Given the description of an element on the screen output the (x, y) to click on. 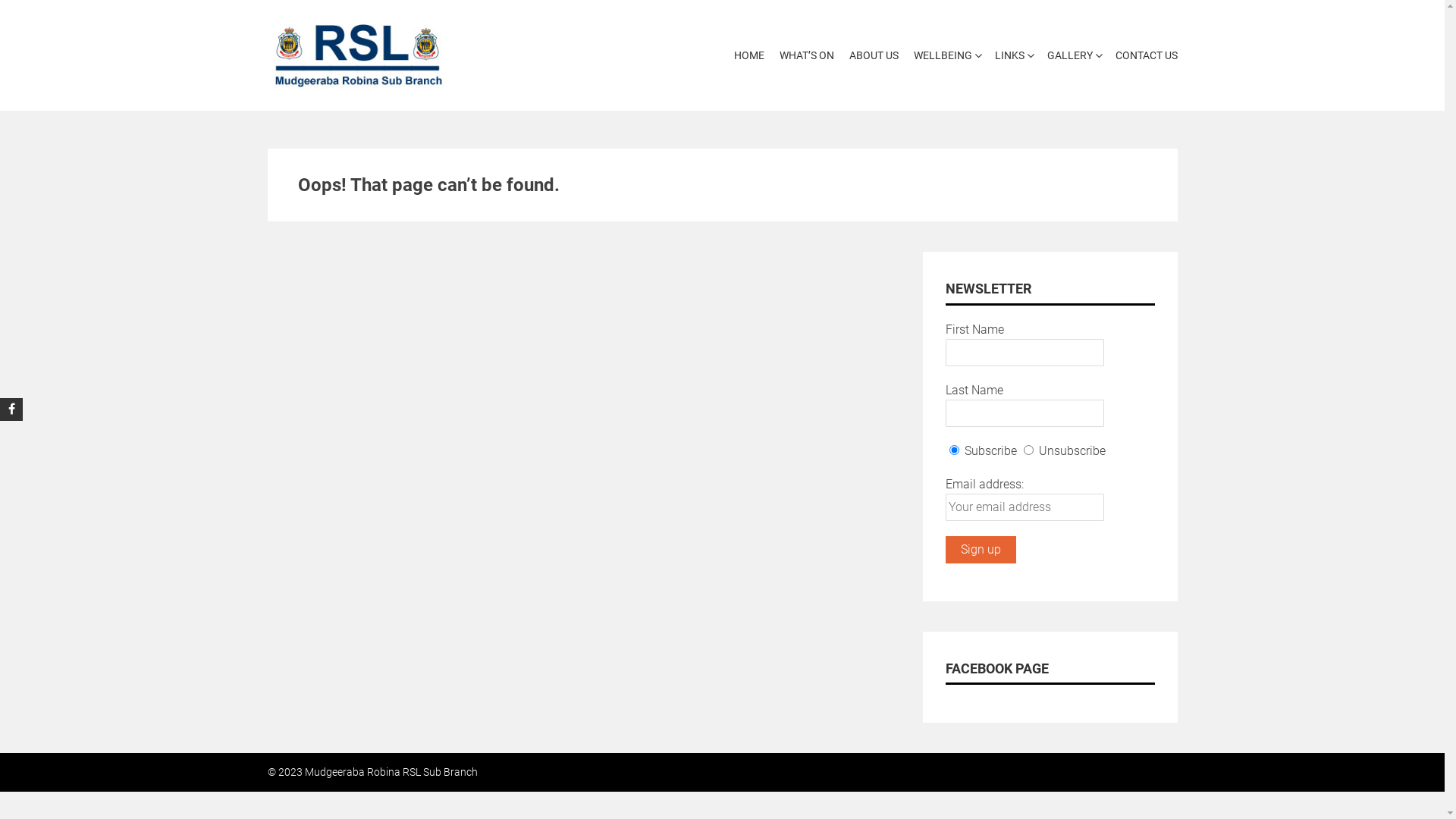
CONTACT US Element type: text (1141, 55)
Sign up Element type: text (979, 549)
HOME Element type: text (748, 55)
WELLBEING Element type: text (942, 55)
GALLERY Element type: text (1068, 55)
ABOUT US Element type: text (873, 55)
LINKS Element type: text (1009, 55)
